Given the description of an element on the screen output the (x, y) to click on. 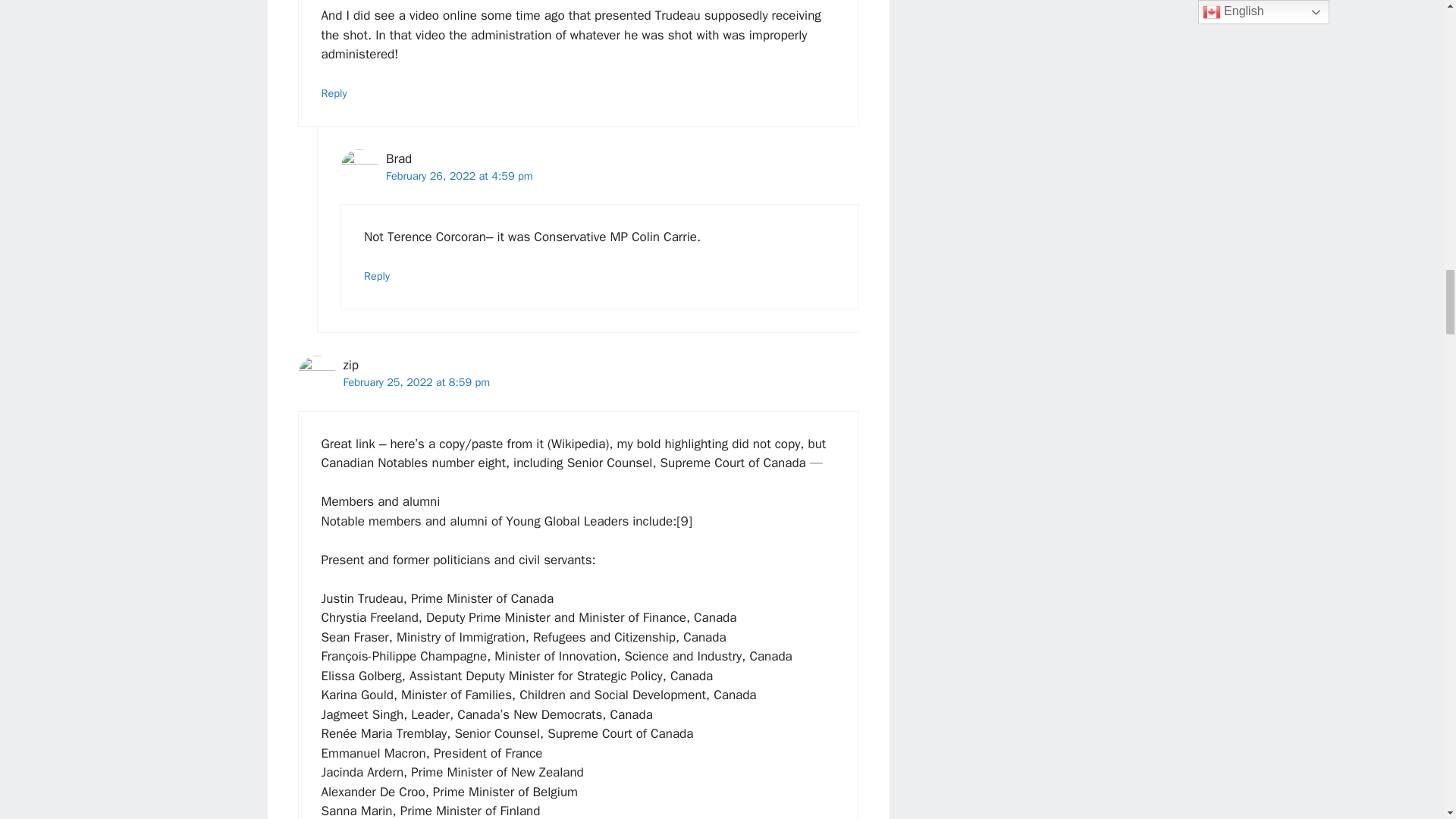
Reply (334, 92)
Reply (377, 275)
February 25, 2022 at 8:59 pm (415, 382)
February 26, 2022 at 4:59 pm (458, 175)
